Given the description of an element on the screen output the (x, y) to click on. 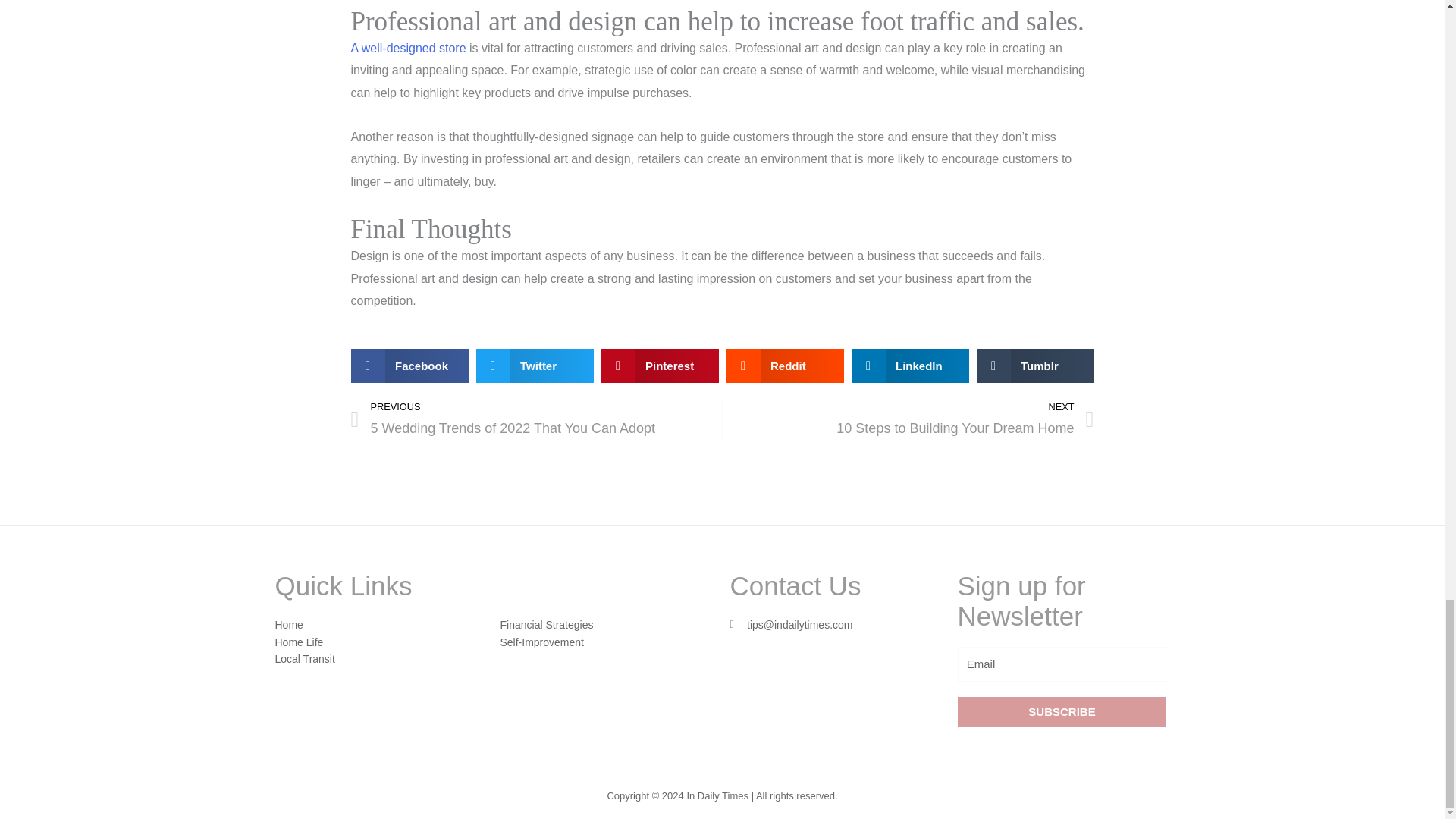
SUBSCRIBE (1061, 711)
Self-Improvement (908, 419)
Financial Strategies (541, 642)
A well-designed store (547, 624)
Local Transit (407, 47)
Home (304, 658)
Home Life (288, 624)
